Given the description of an element on the screen output the (x, y) to click on. 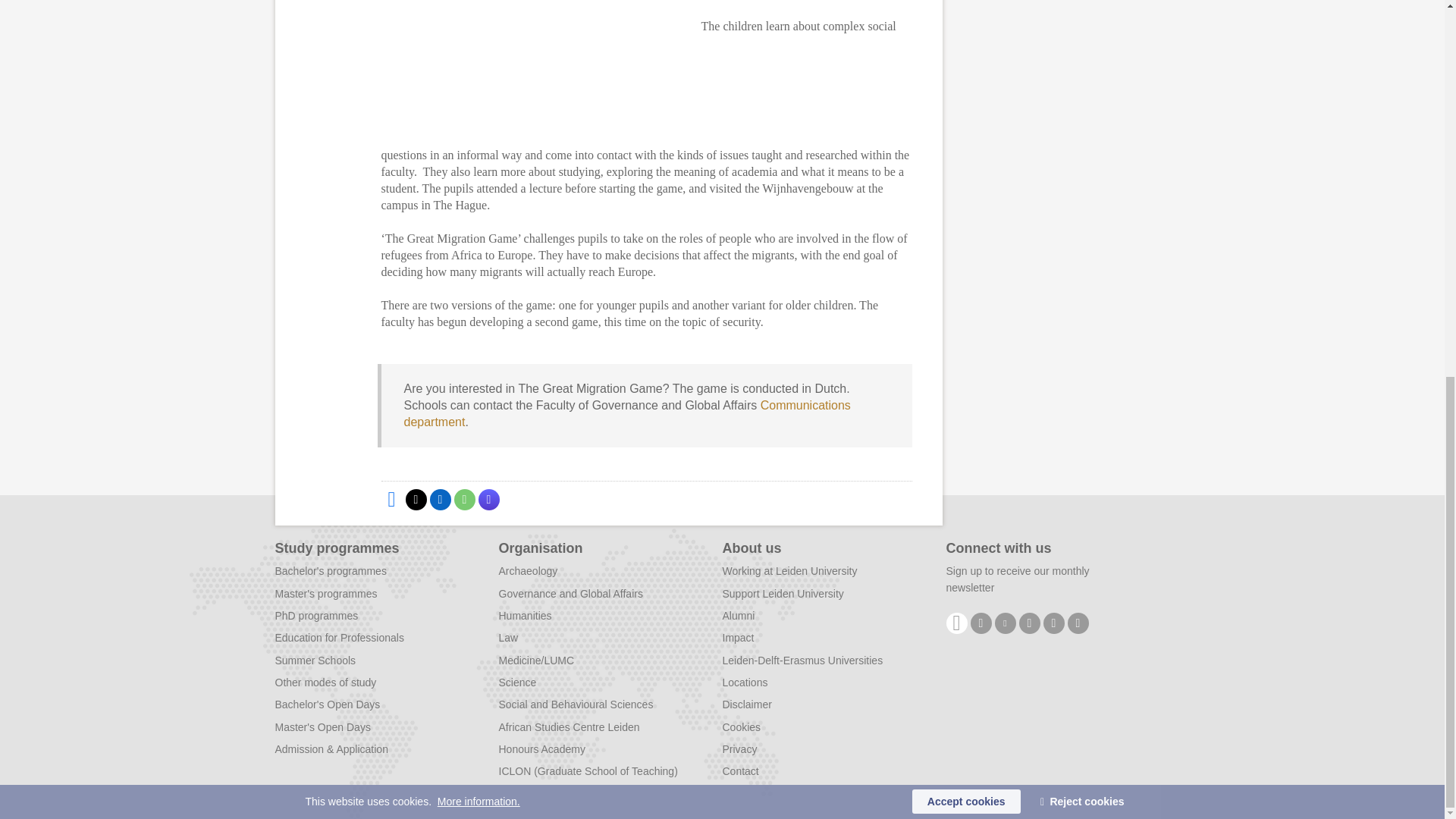
Share on X (415, 499)
Share on Facebook (390, 499)
Communications department (626, 413)
Share by Mastodon (488, 499)
Bachelor's programmes (330, 571)
Share on LinkedIn (439, 499)
Share by WhatsApp (463, 499)
